Given the description of an element on the screen output the (x, y) to click on. 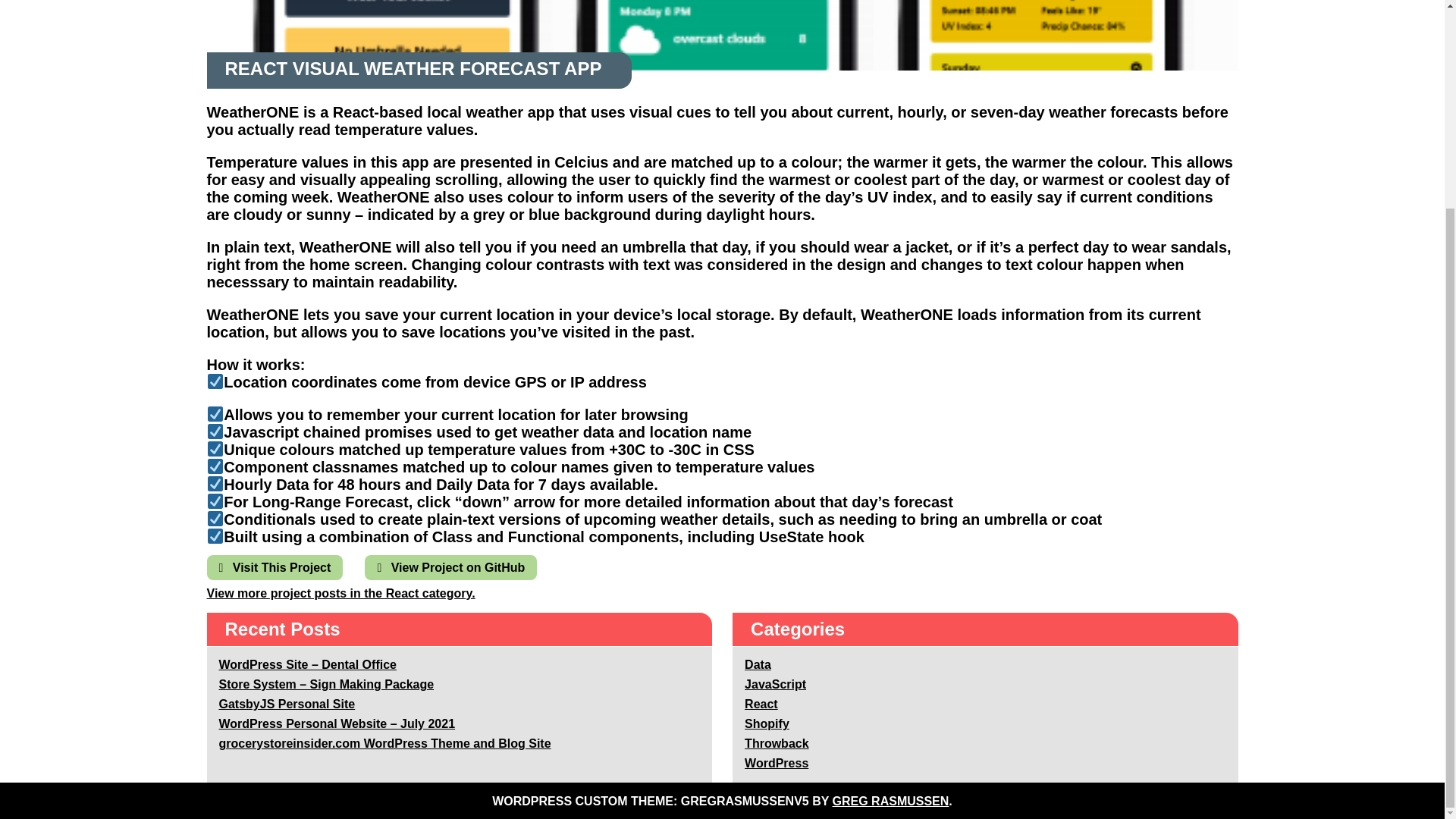
View Project on GitHub (451, 567)
GatsbyJS Personal Site (286, 703)
Throwback (776, 743)
JavaScript (775, 684)
Visit This Project (274, 567)
Data (757, 664)
WordPress (776, 762)
React (760, 703)
Shopify (766, 723)
grocerystoreinsider.com WordPress Theme and Blog Site (384, 743)
View more project posts in the React category. (340, 593)
GREG RASMUSSEN (890, 800)
